Given the description of an element on the screen output the (x, y) to click on. 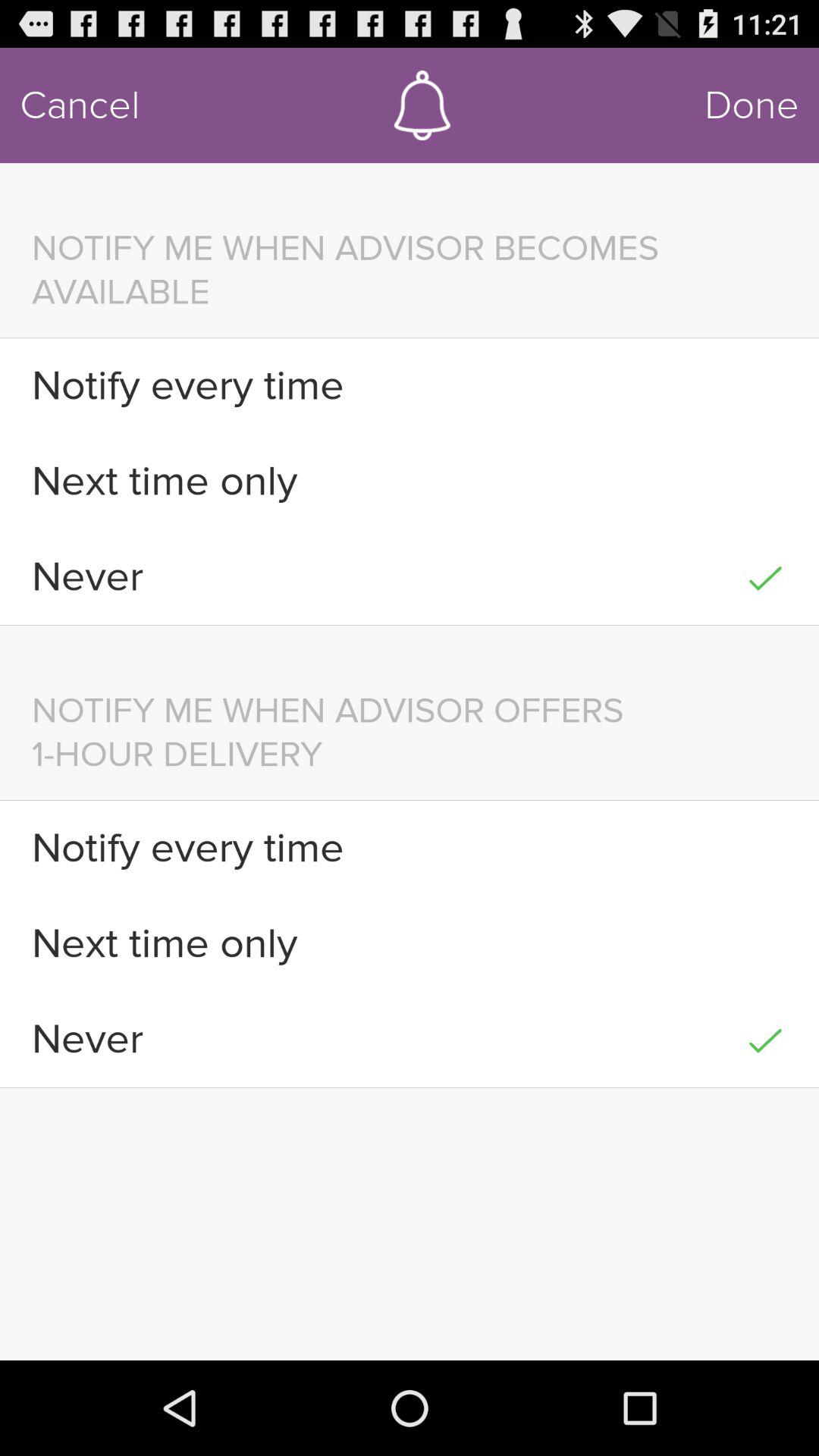
open icon to the right of the notify every time item (765, 848)
